Given the description of an element on the screen output the (x, y) to click on. 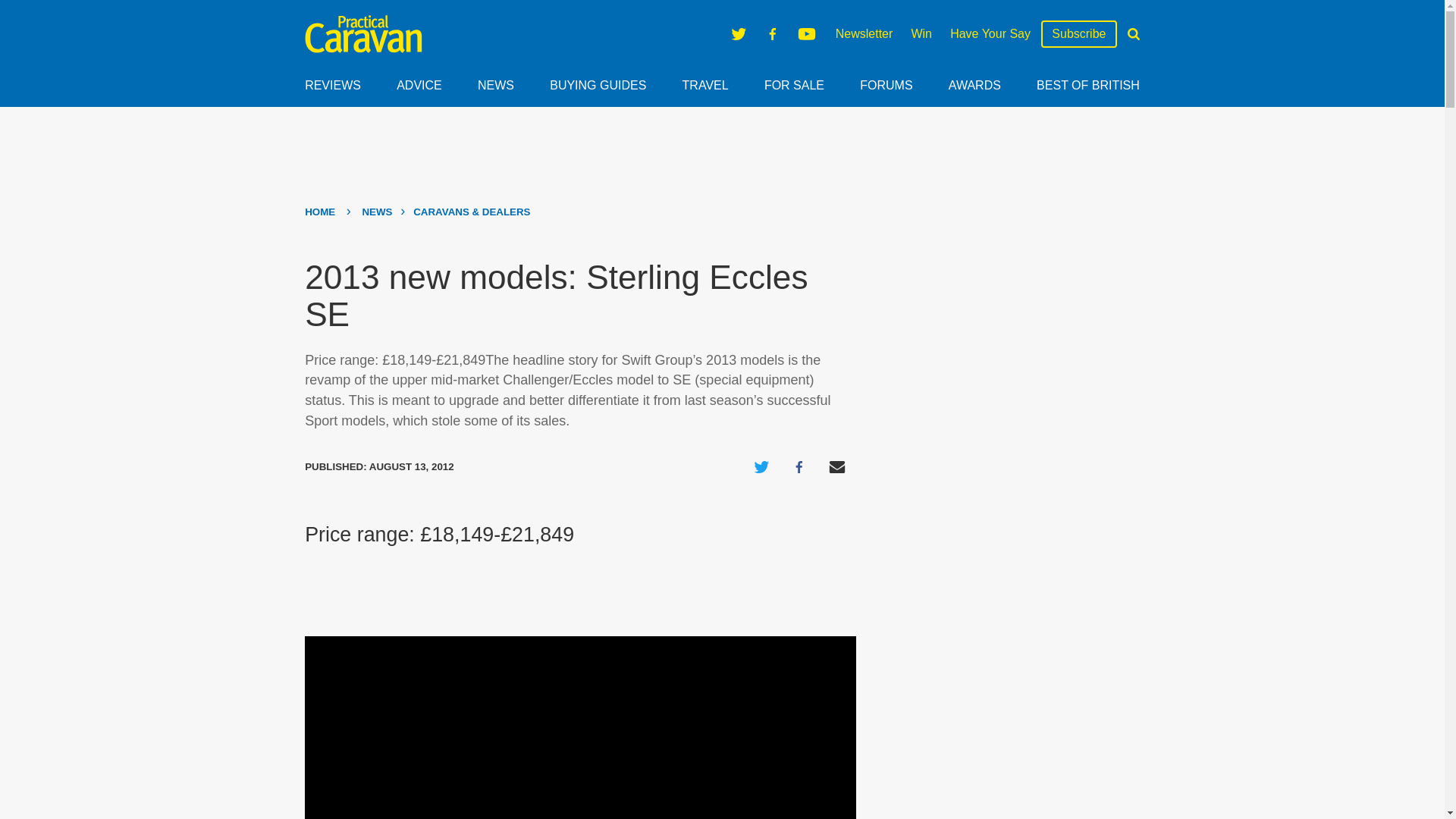
Share on Twitter (761, 466)
Newsletter (863, 33)
Have Your Say (990, 33)
Subscribe (1078, 34)
ADVICE (419, 84)
Win (921, 33)
BUYING GUIDES (598, 84)
Share via Email (837, 466)
REVIEWS (332, 84)
Share on Facebook (799, 466)
TRAVEL (705, 84)
NEWS (495, 84)
